Given the description of an element on the screen output the (x, y) to click on. 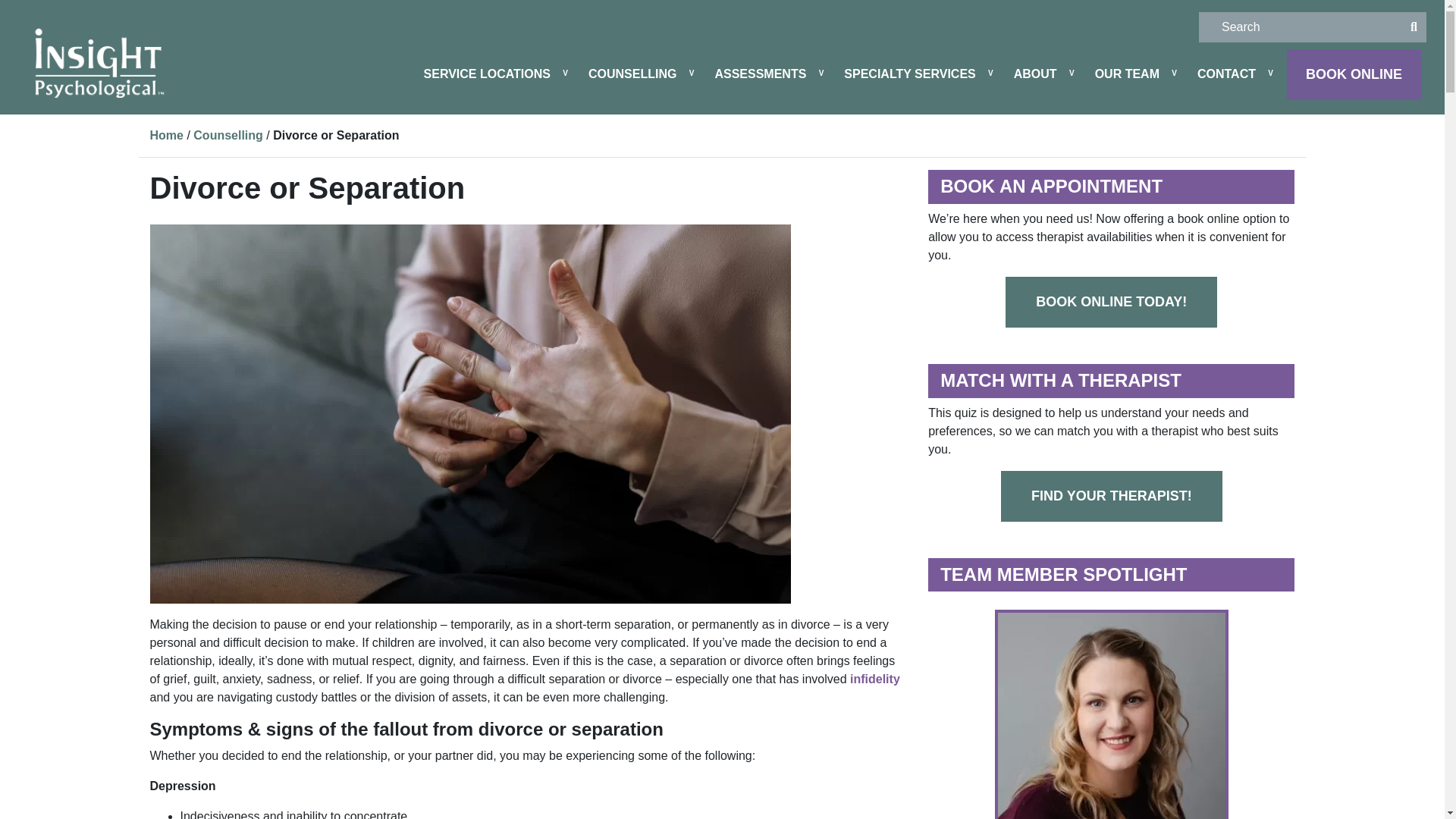
SPECIALTY SERVICES (908, 73)
Assessments (759, 73)
ASSESSMENTS (759, 73)
COUNSELLING (632, 73)
Service Locations (486, 73)
Counselling (632, 73)
SERVICE LOCATIONS (486, 73)
